Given the description of an element on the screen output the (x, y) to click on. 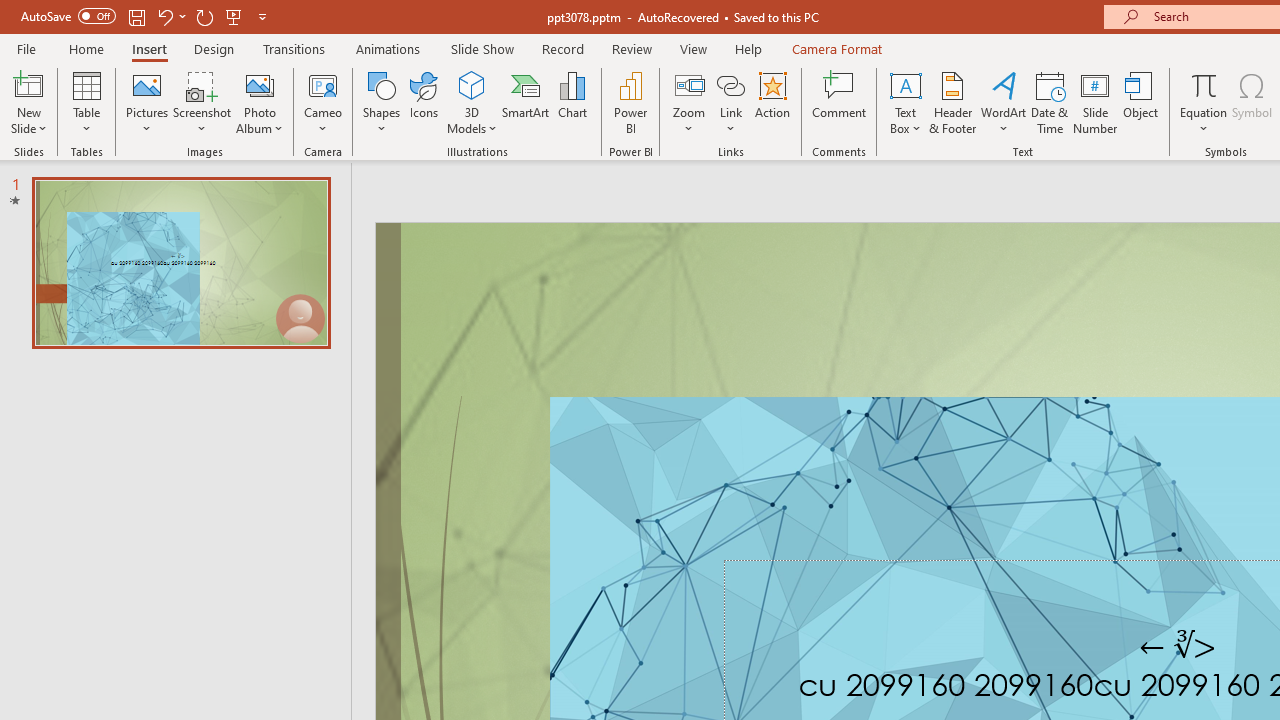
Pictures (147, 102)
TextBox 7 (1178, 646)
Icons (424, 102)
Header & Footer... (952, 102)
